Given the description of an element on the screen output the (x, y) to click on. 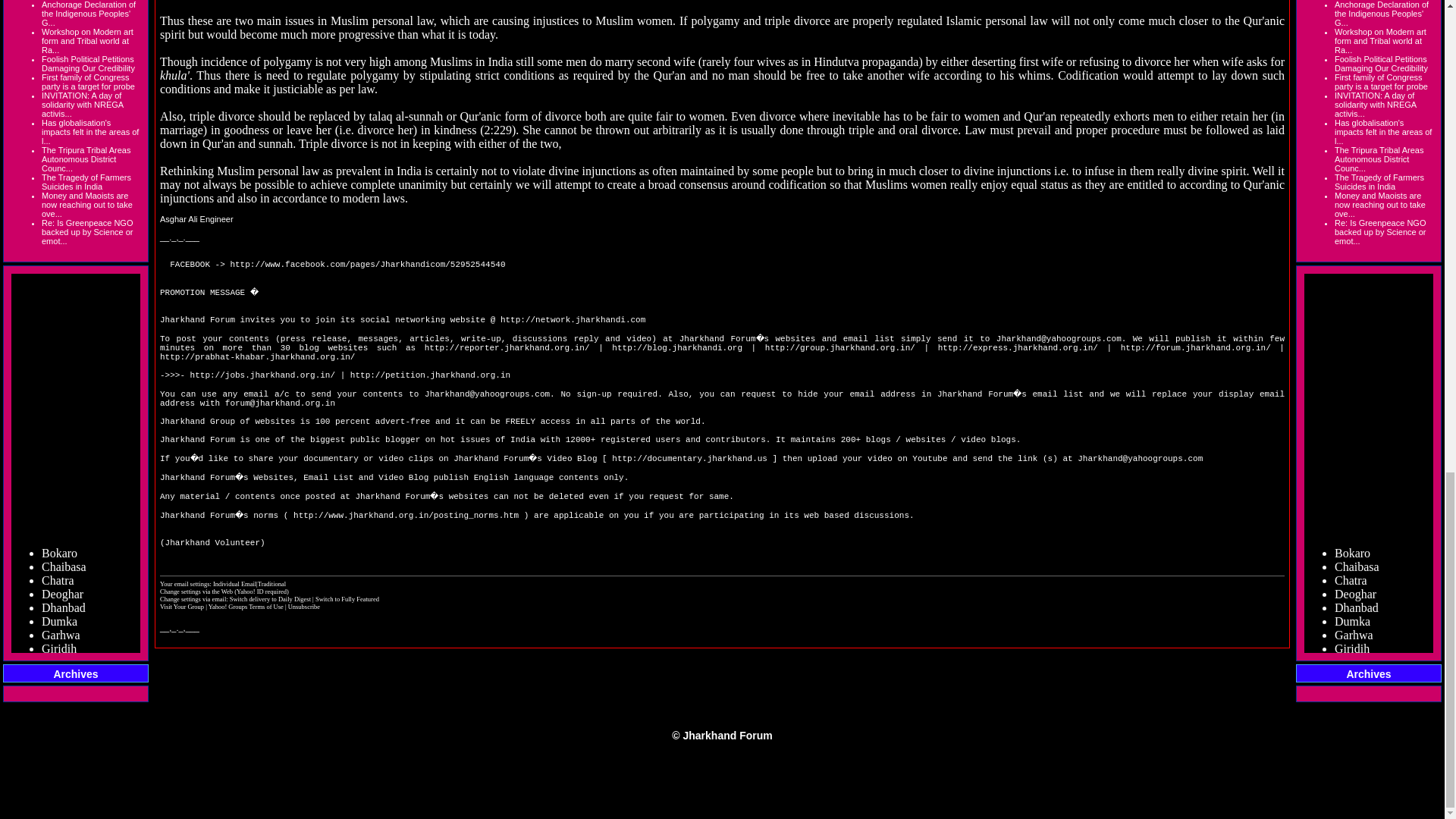
The Tragedy of Farmers Suicides in India (86, 181)
Dumka (59, 725)
Gumla (58, 777)
Anchorage Declaration of the Indigenous Peoples' G... (88, 13)
Foolish Political Petitions Damaging Our Credibility (88, 63)
Chatra (58, 686)
Chaibasa (63, 672)
Godda (58, 764)
Dhanbad (63, 712)
Deoghar (62, 698)
Hazaribag (66, 790)
Workshop on Modern art form and Tribal world at Ra... (87, 40)
First family of Congress party is a target for probe (88, 81)
Money and Maoists are now reaching out to take ove... (87, 204)
Re: Is Greenpeace NGO backed up by Science or emot... (87, 231)
